Given the description of an element on the screen output the (x, y) to click on. 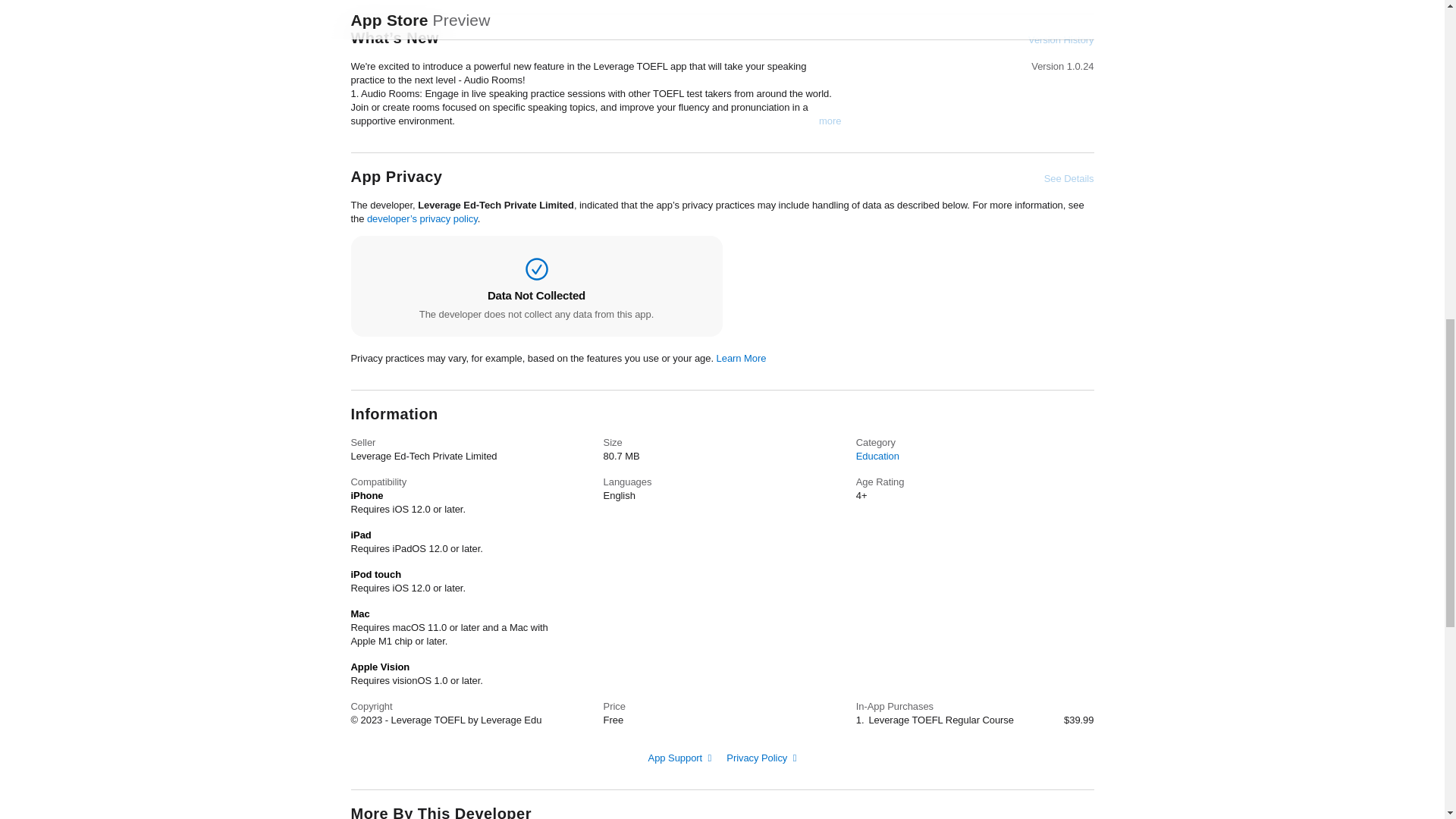
Version History (1060, 39)
Education (877, 455)
Privacy Policy (761, 757)
App Support (679, 757)
Learn More (741, 357)
See Details (1068, 178)
more (829, 120)
